Given the description of an element on the screen output the (x, y) to click on. 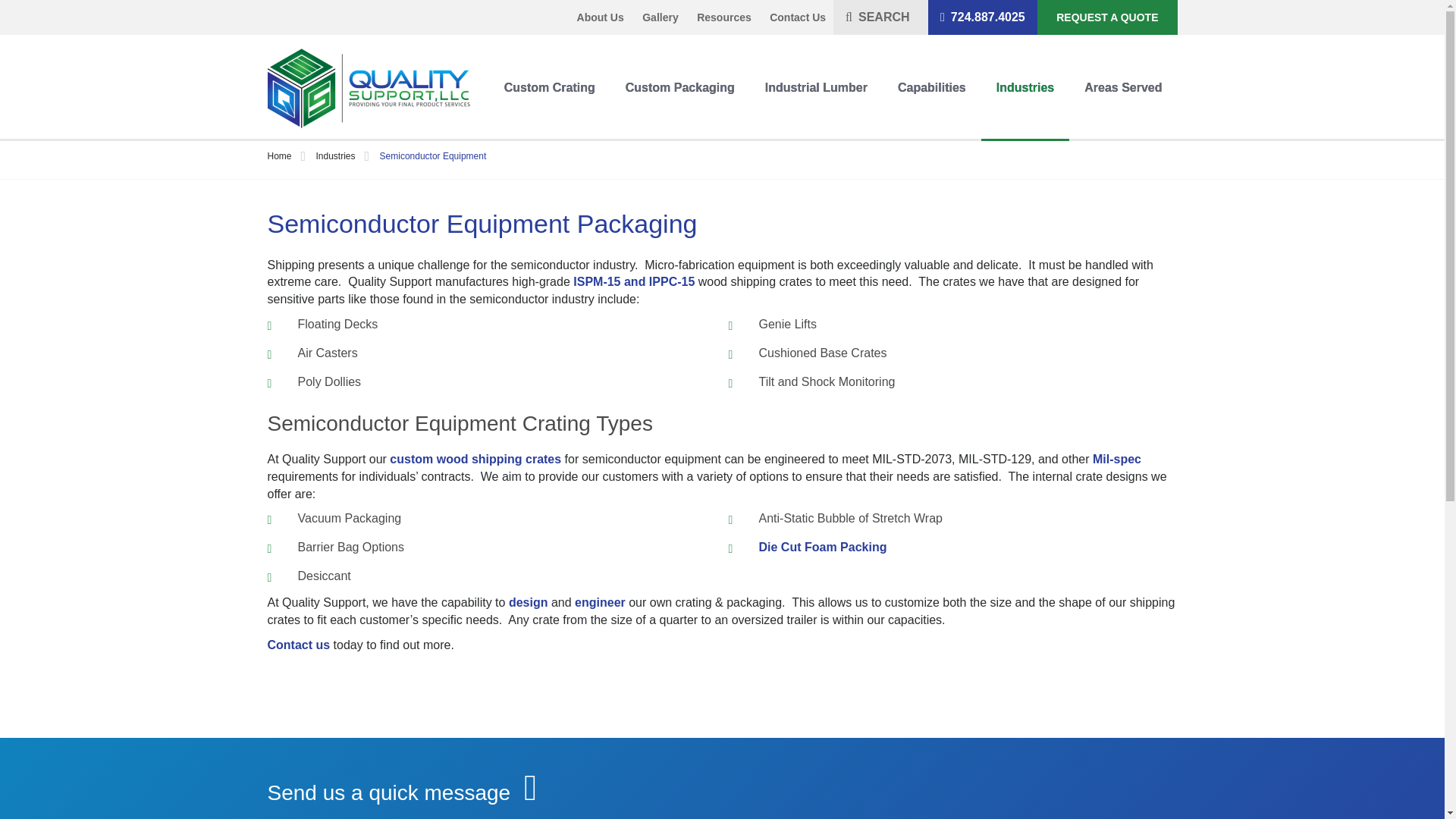
Industrial Lumber (815, 87)
Capabilities (931, 87)
Gallery (660, 17)
Resources (724, 17)
Custom Crating (549, 87)
Quality Support, LLC (367, 87)
Contact Us (797, 17)
Custom Packaging (679, 87)
About Us (600, 17)
Areas Served (1122, 87)
REQUEST A QUOTE (1106, 17)
